Given the description of an element on the screen output the (x, y) to click on. 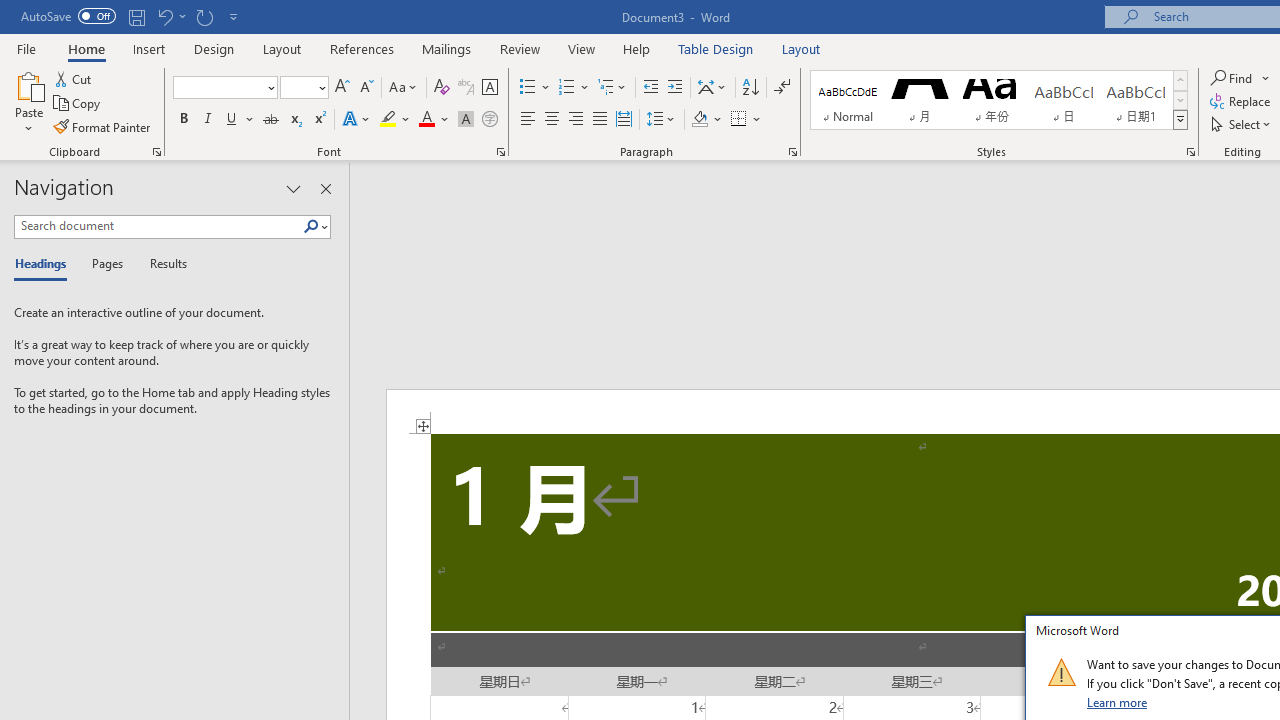
Undo Apply Quick Style (164, 15)
Learn more (1118, 702)
